Given the description of an element on the screen output the (x, y) to click on. 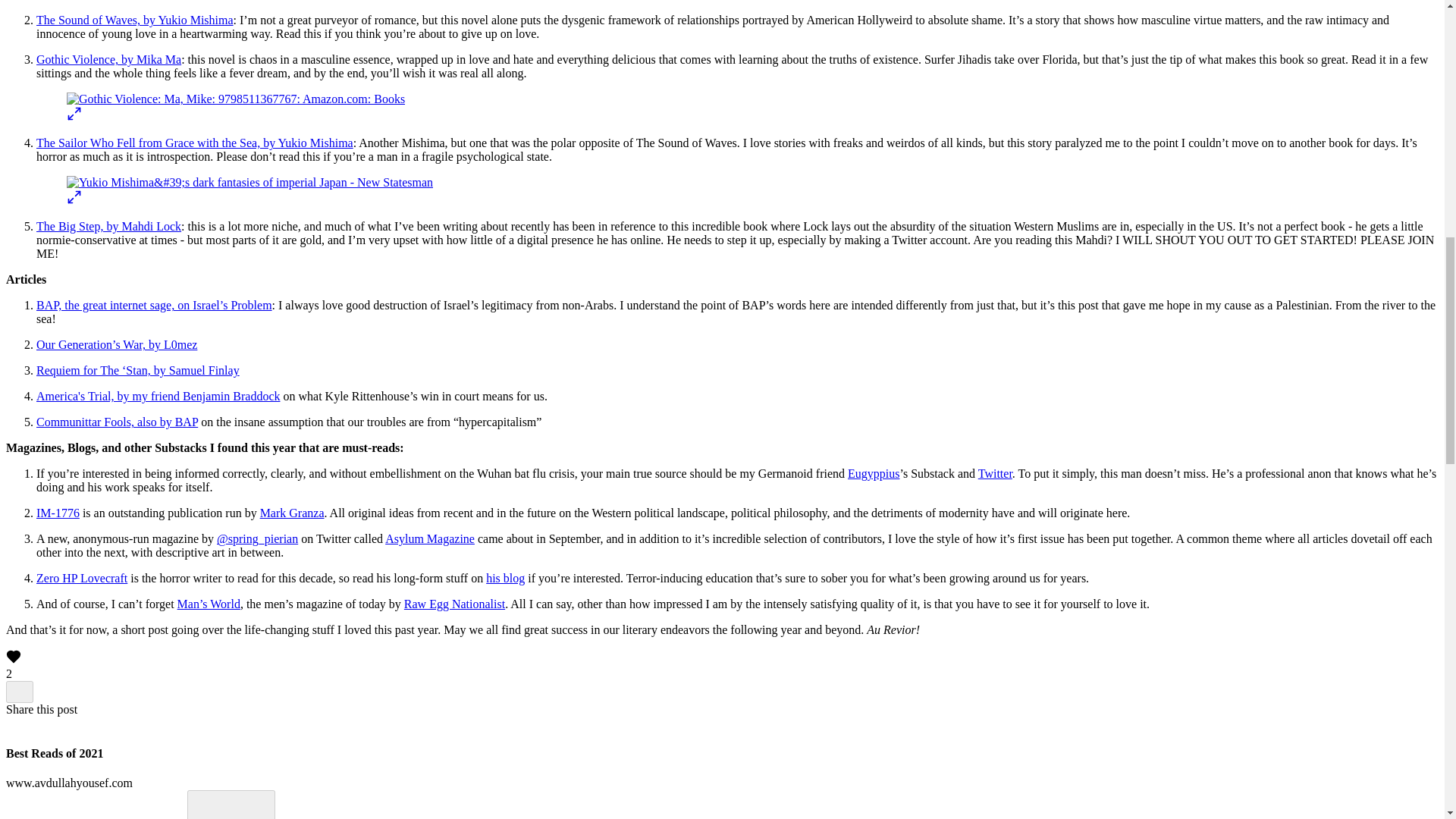
Eugyppius (873, 472)
Communittar Fools, also by BAP (117, 421)
The Sound of Waves, by Yukio Mishima (134, 19)
The Big Step, by Mahdi Lock (108, 226)
Twitter (994, 472)
IM-1776 (58, 512)
Mark Granza (292, 512)
Gothic Violence, by Mika Ma (108, 59)
America's Trial, by my friend Benjamin Braddock (158, 395)
